Given the description of an element on the screen output the (x, y) to click on. 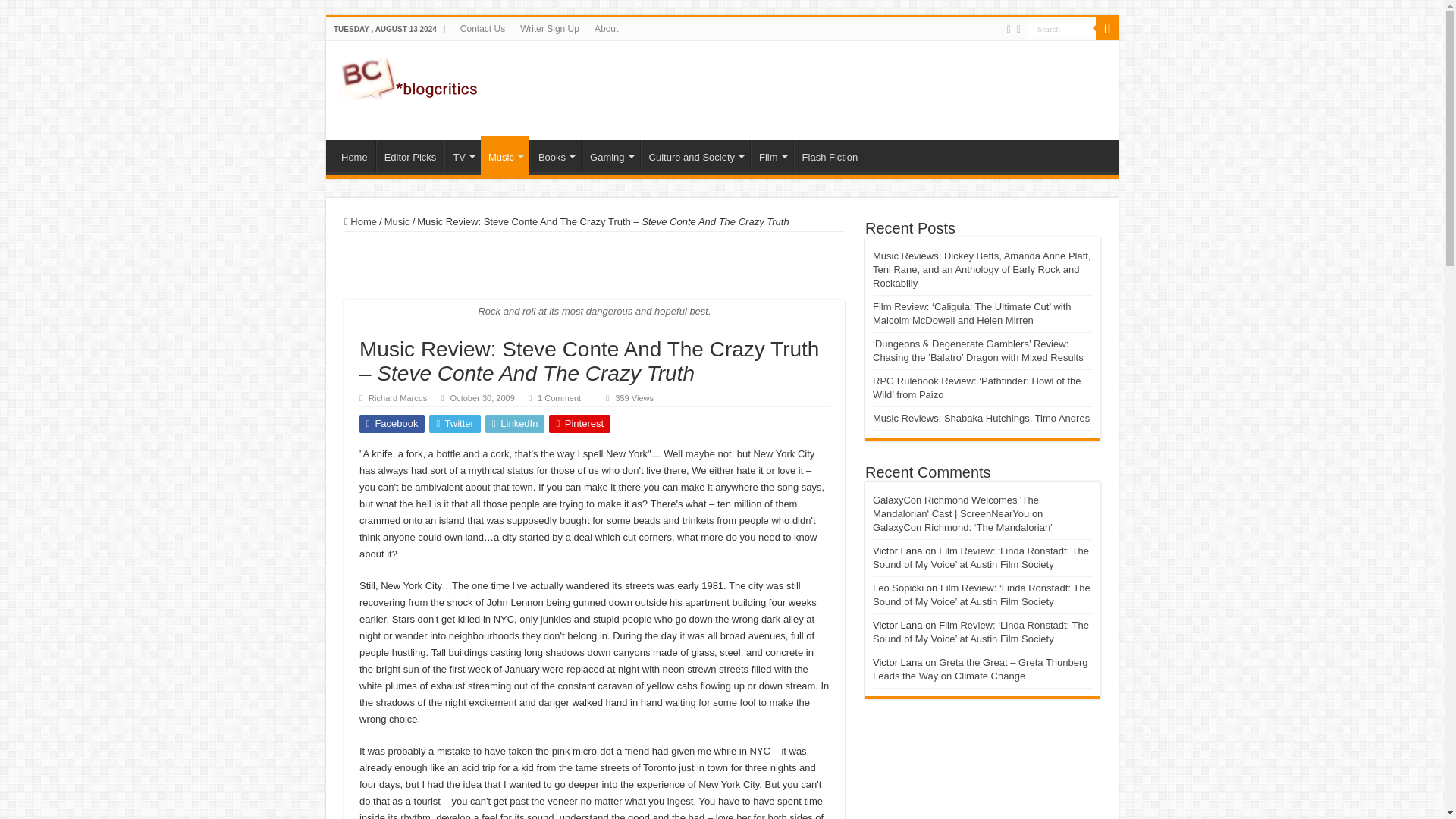
Search (1061, 28)
Search (1061, 28)
Search (1061, 28)
Blogcritics (409, 75)
